Given the description of an element on the screen output the (x, y) to click on. 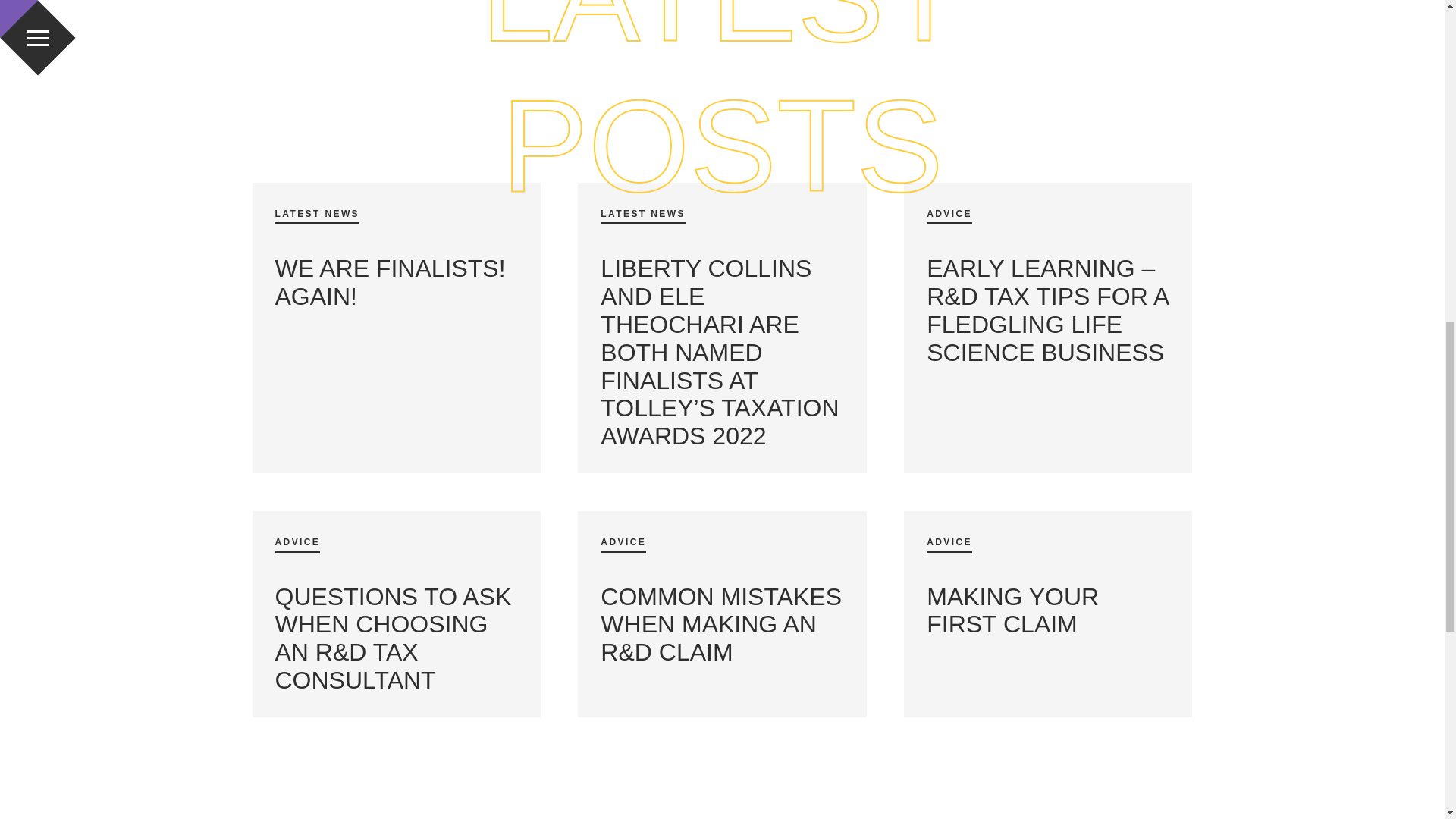
ADVICE (622, 544)
ADVICE (297, 544)
ADVICE (949, 544)
ADVICE (949, 216)
MAKING YOUR FIRST CLAIM (1012, 610)
LATEST NEWS (317, 216)
WE ARE FINALISTS!  AGAIN! (393, 282)
LATEST NEWS (642, 216)
